Given the description of an element on the screen output the (x, y) to click on. 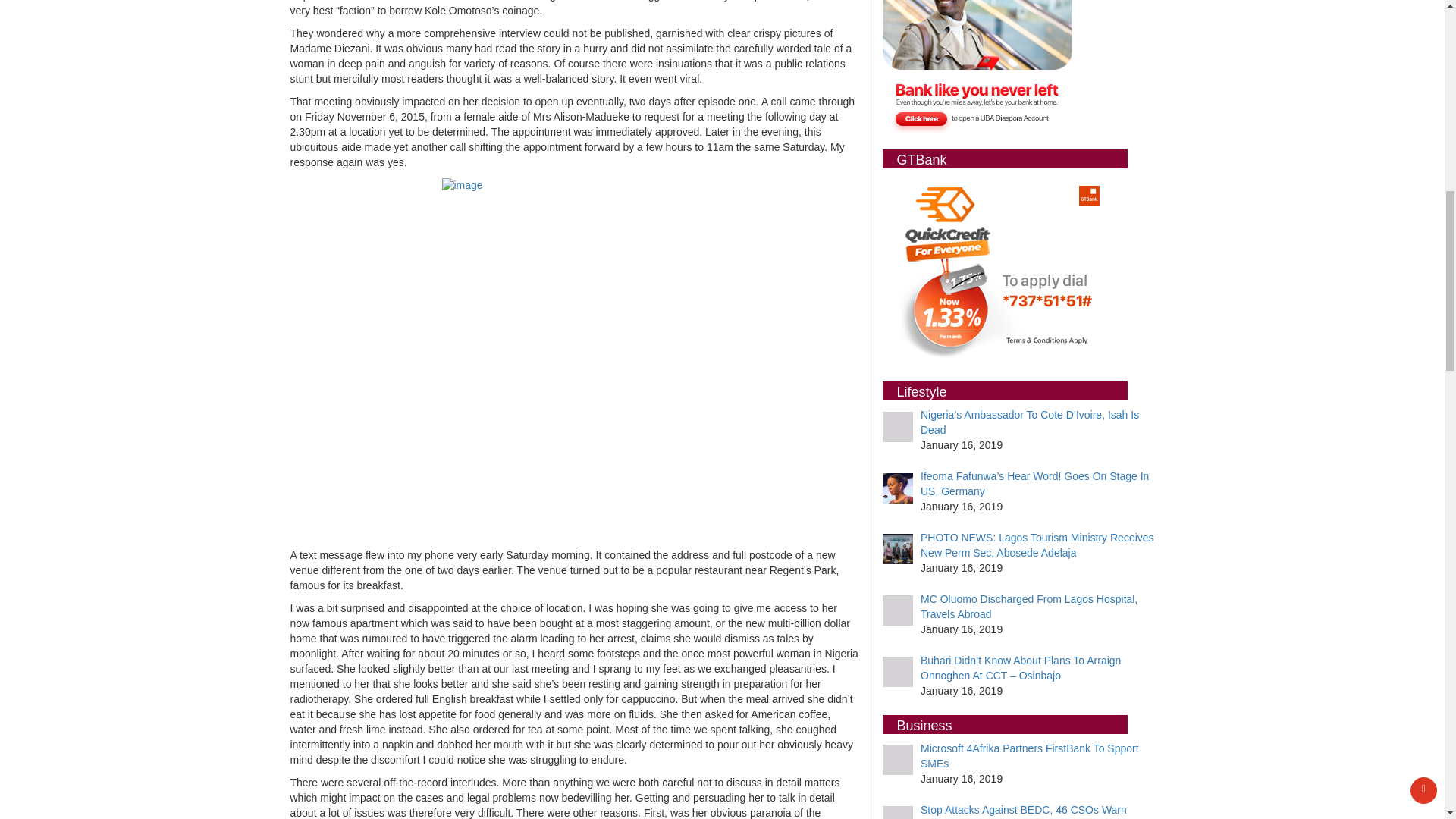
MC Oluomo Discharged From Lagos Hospital, Travels Abroad (1028, 605)
Microsoft 4Afrika Partners FirstBank To Spport SMEs (1029, 755)
Stop Attacks Against BEDC, 46 CSOs Warn (1023, 809)
